Given the description of an element on the screen output the (x, y) to click on. 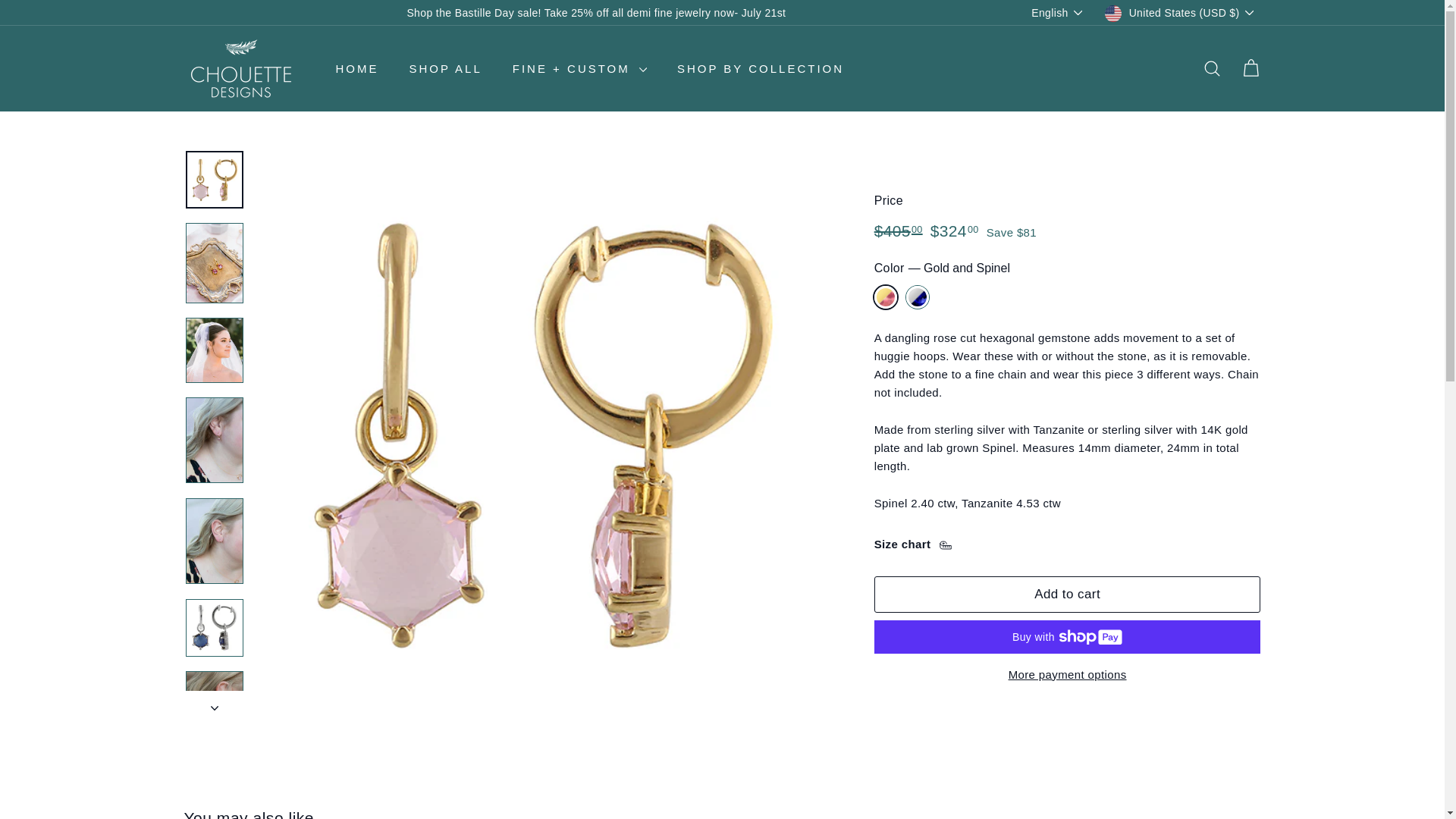
SHOP ALL (445, 68)
SHOP BY COLLECTION (760, 68)
icon-chevron (214, 707)
HOME (356, 68)
English (1059, 12)
